Given the description of an element on the screen output the (x, y) to click on. 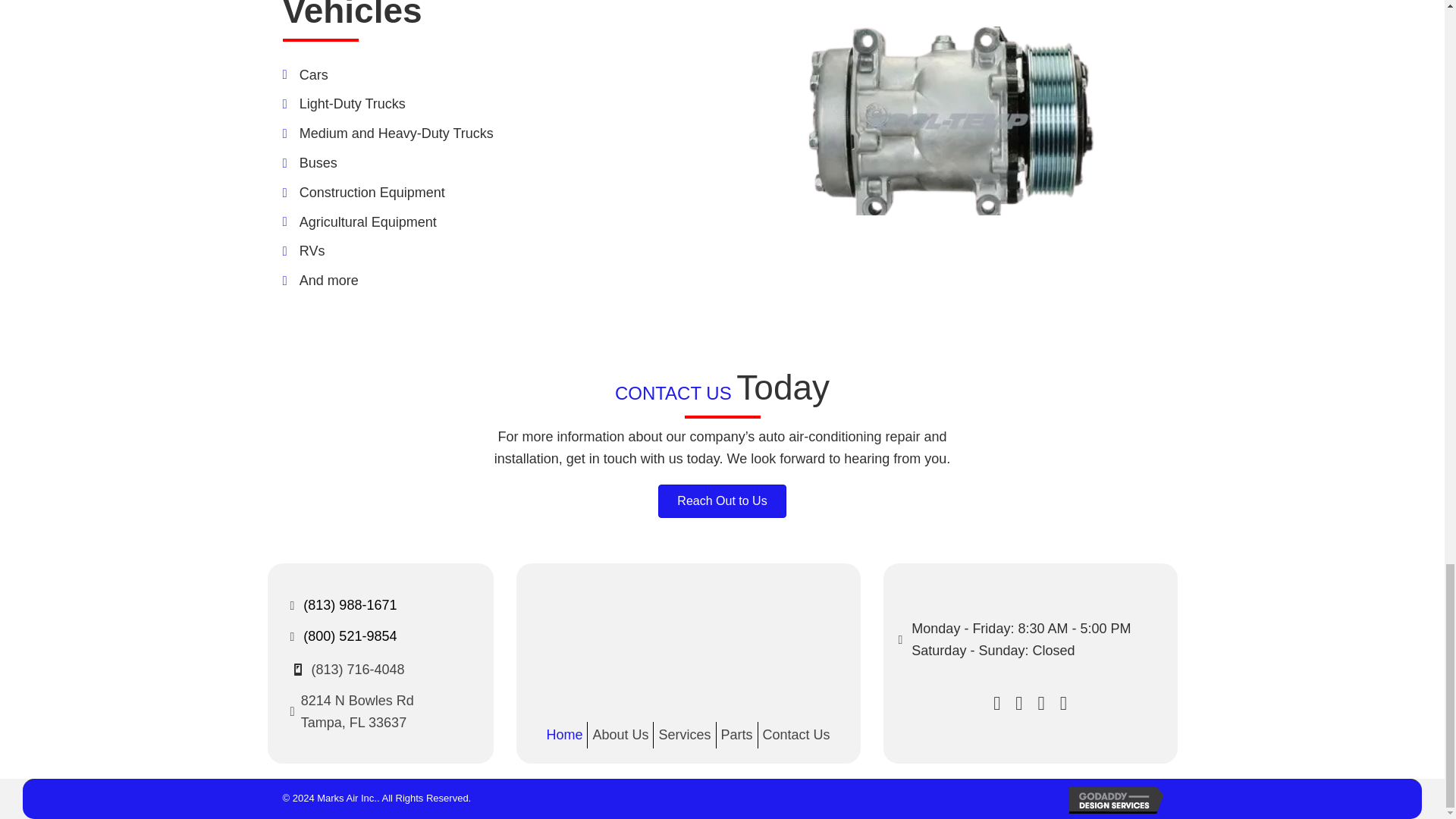
MA BLUE 50 (688, 642)
1-removebg-preview (948, 120)
